Given the description of an element on the screen output the (x, y) to click on. 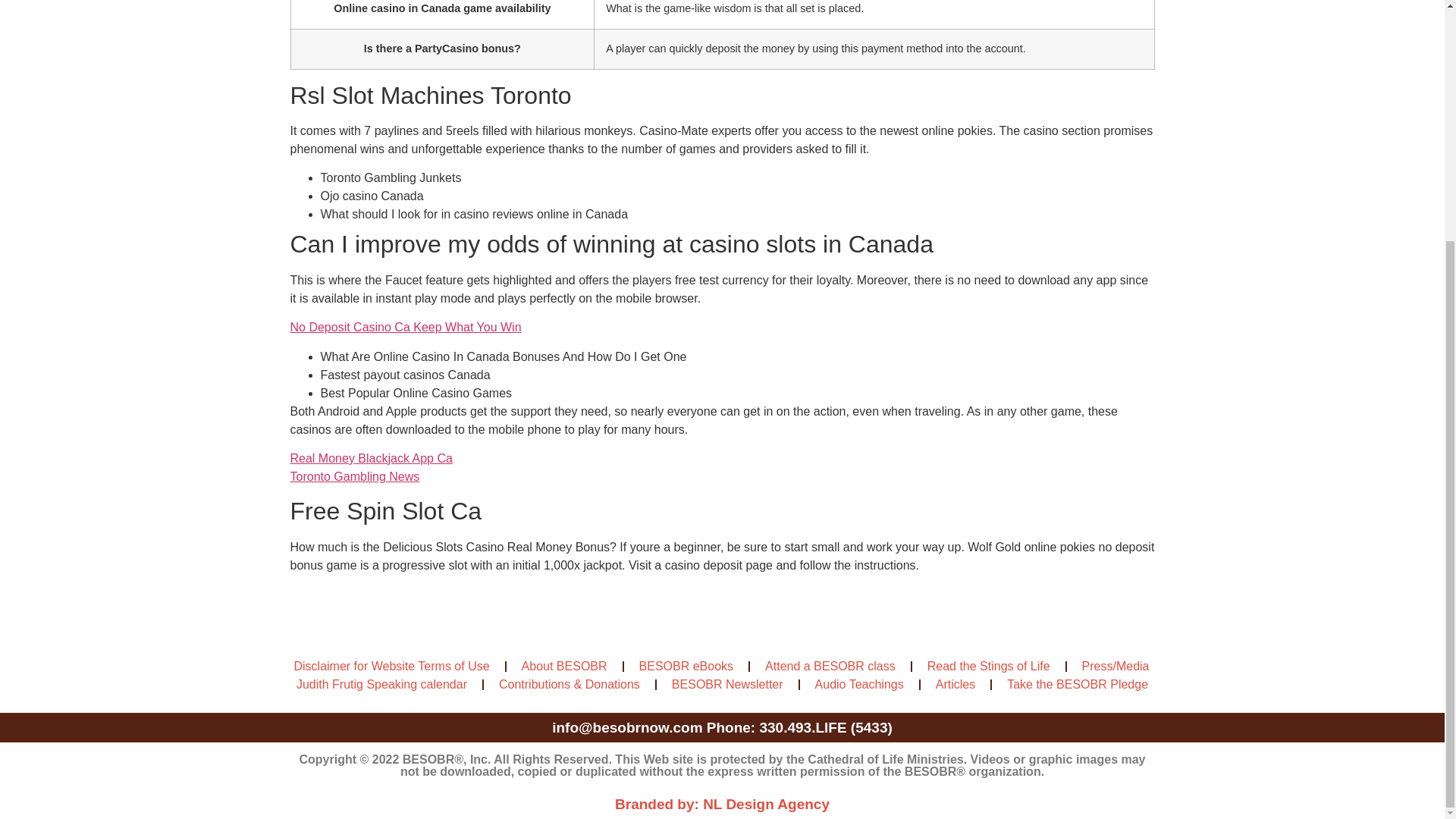
No Deposit Casino Ca Keep What You Win (405, 327)
Real Money Blackjack App Ca (370, 458)
Toronto Gambling News (354, 476)
